Given the description of an element on the screen output the (x, y) to click on. 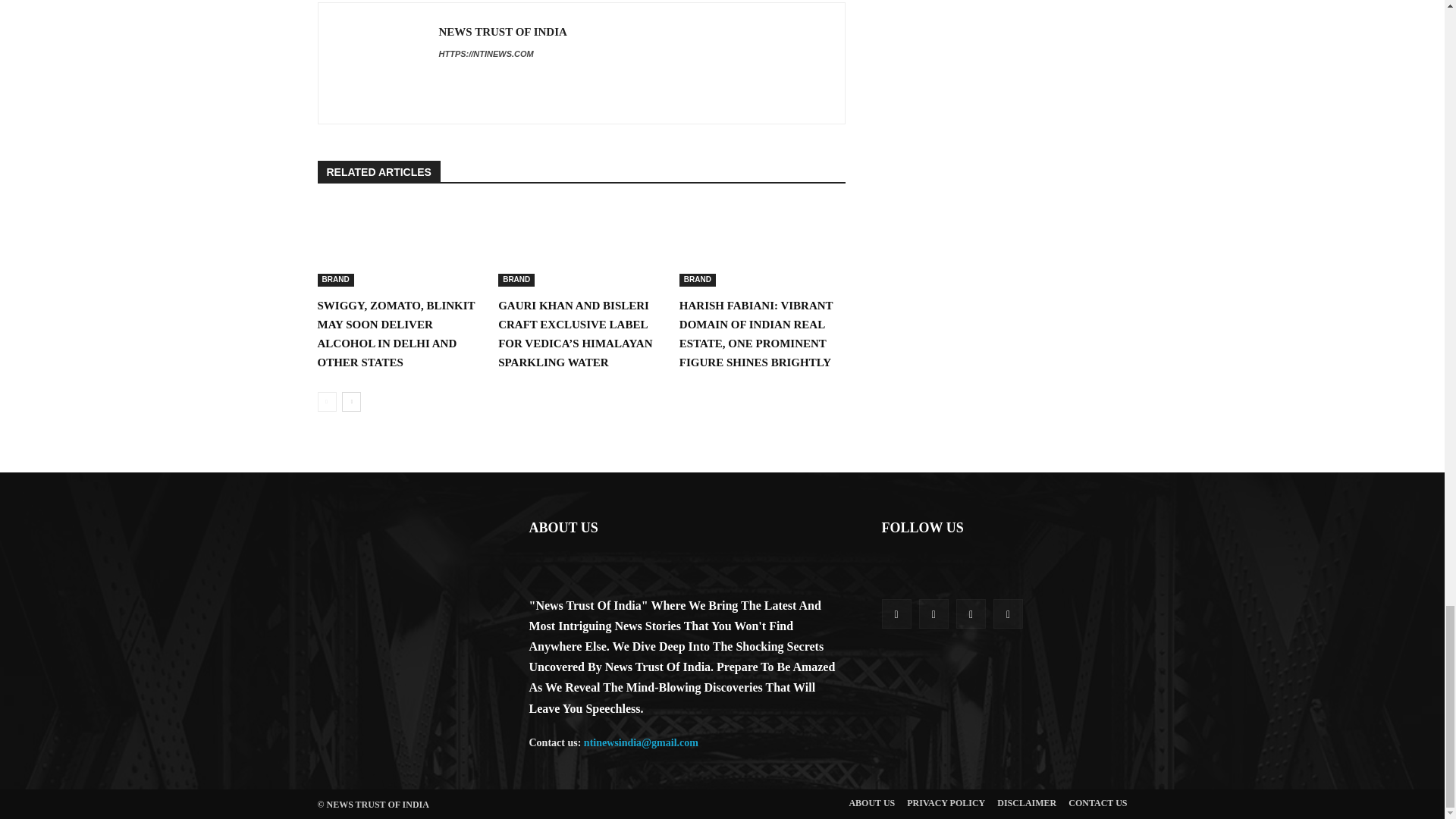
NEWS TRUST OF INDIA (502, 32)
